Given the description of an element on the screen output the (x, y) to click on. 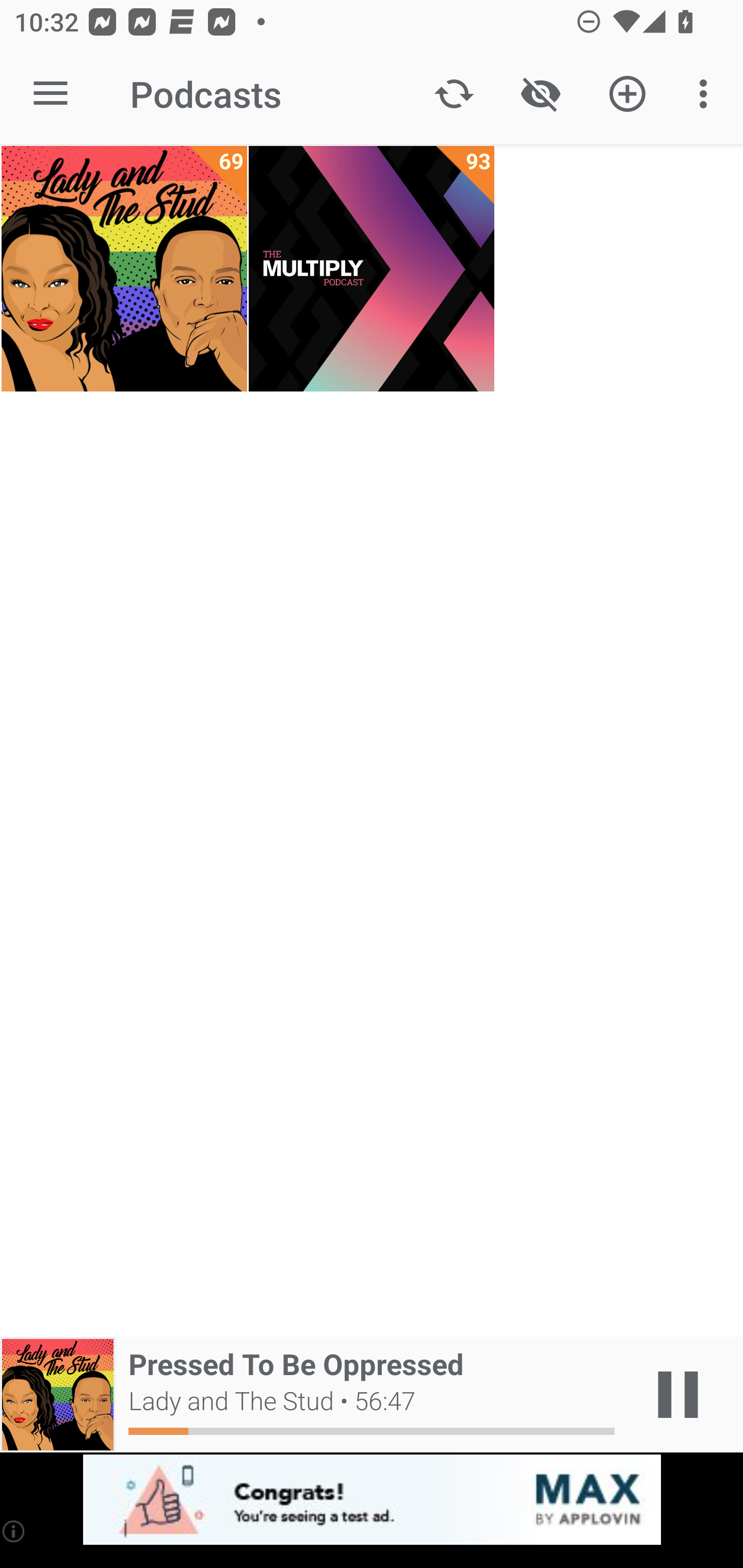
Open navigation sidebar (50, 93)
Update (453, 93)
Show / Hide played content (540, 93)
Add new Podcast (626, 93)
More options (706, 93)
Lady and The Stud 69 (124, 268)
The Multiply Podcast 93 (371, 268)
Play / Pause (677, 1394)
app-monetization (371, 1500)
(i) (14, 1531)
